Given the description of an element on the screen output the (x, y) to click on. 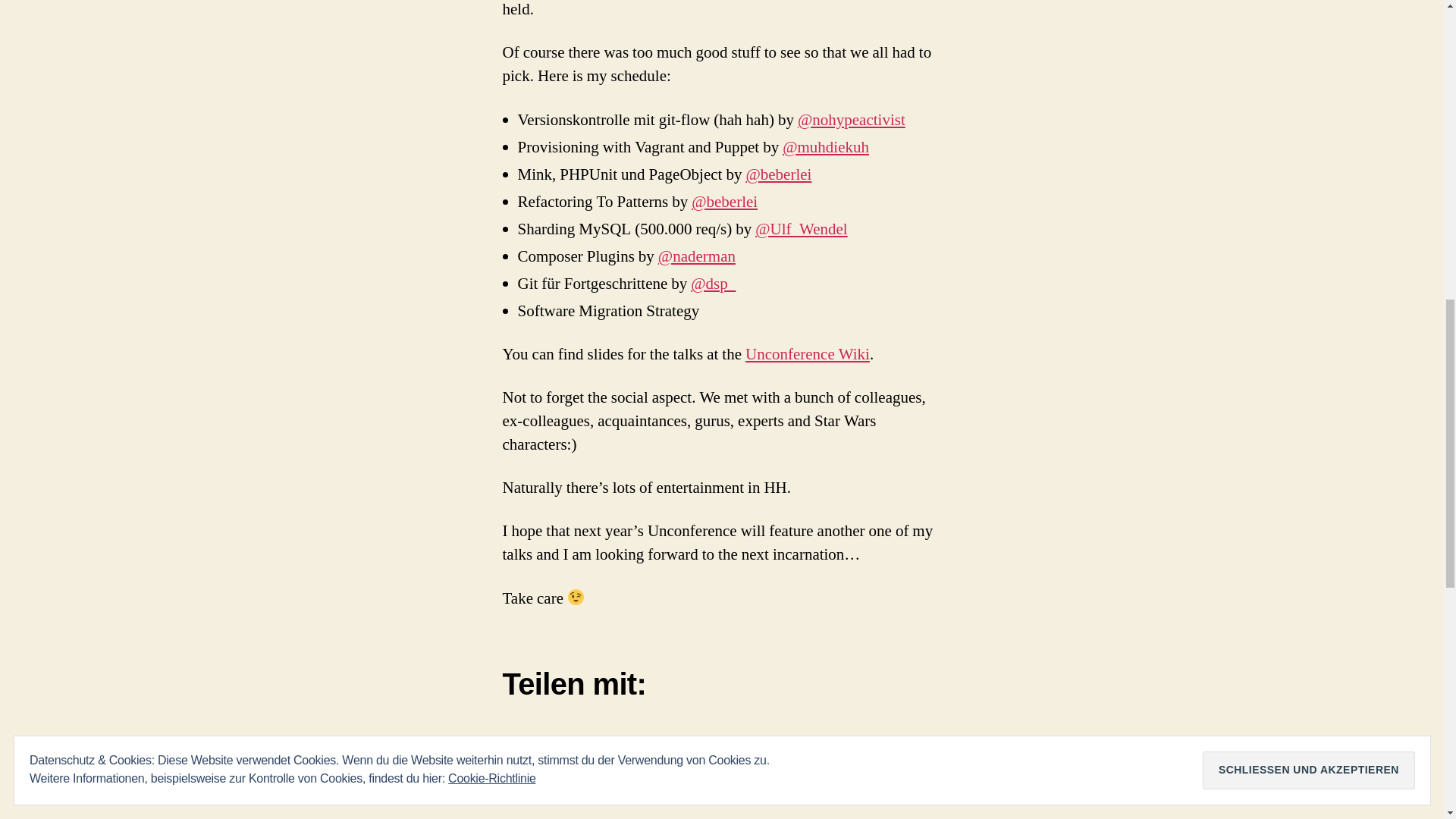
Klick, um auf Facebook zu teilen (513, 750)
Klick, um auf LinkedIn zu teilen (574, 750)
Unconference Wiki (807, 353)
